Given the description of an element on the screen output the (x, y) to click on. 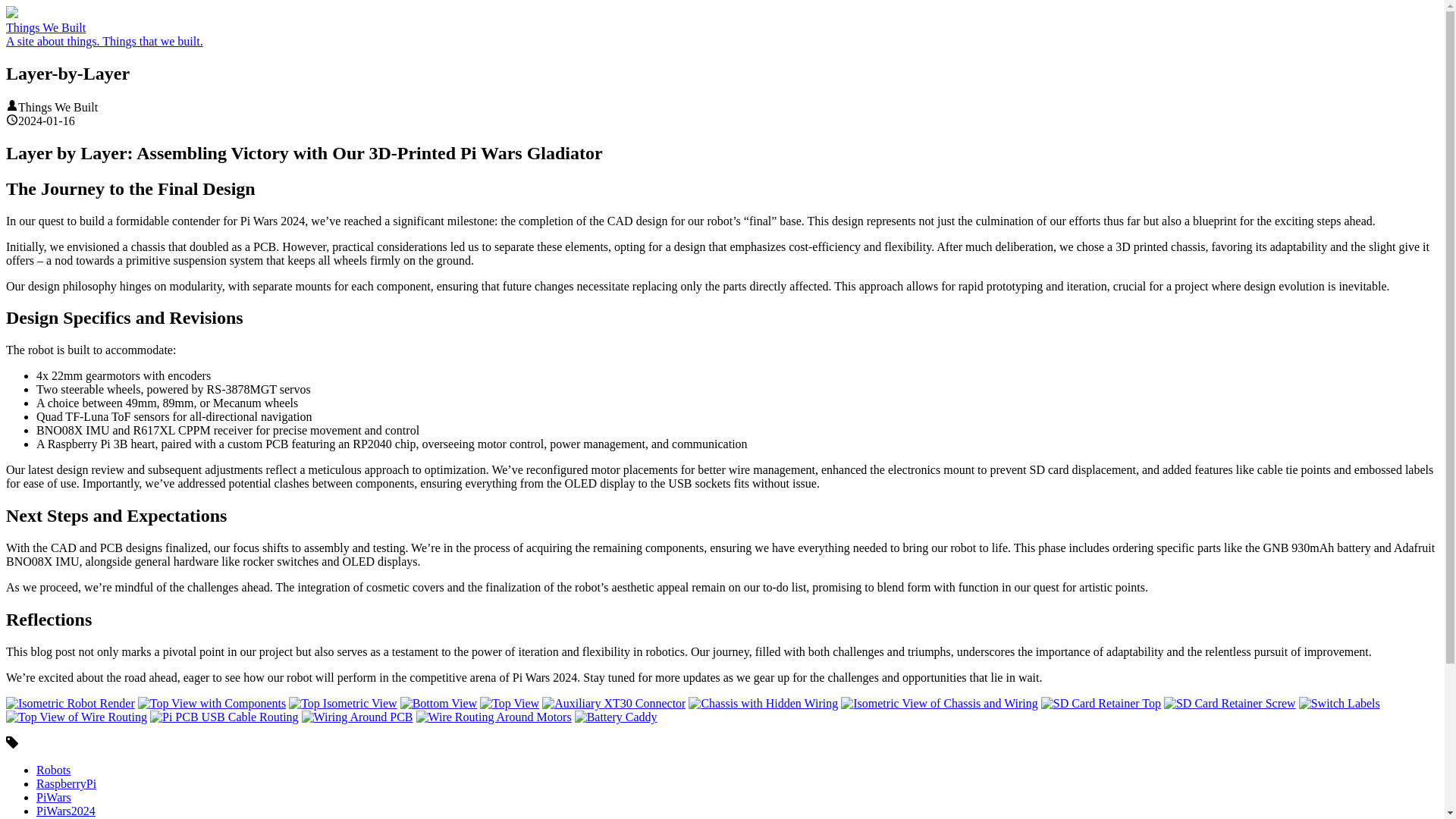
PiWars2024 (66, 810)
Internal wiring layout within the robot's chassis (763, 703)
Design of the battery caddy holding the power source (616, 716)
Focused view on the wiring around the robot's PCB (357, 716)
Detailed routing of wires around the robot's motors (494, 716)
Isometric view from the top of the robot (342, 703)
Robots (52, 769)
Top view of the SD card retainer in the robot (1100, 703)
Close-up view of the auxiliary XT30 connector integration (613, 703)
Top view showing the wire routing around the motors (76, 716)
Overview of the robot's top with all components in place (211, 703)
The Raspberry Pi PCB with USB cable routing (223, 716)
RaspberryPi (66, 783)
